Given the description of an element on the screen output the (x, y) to click on. 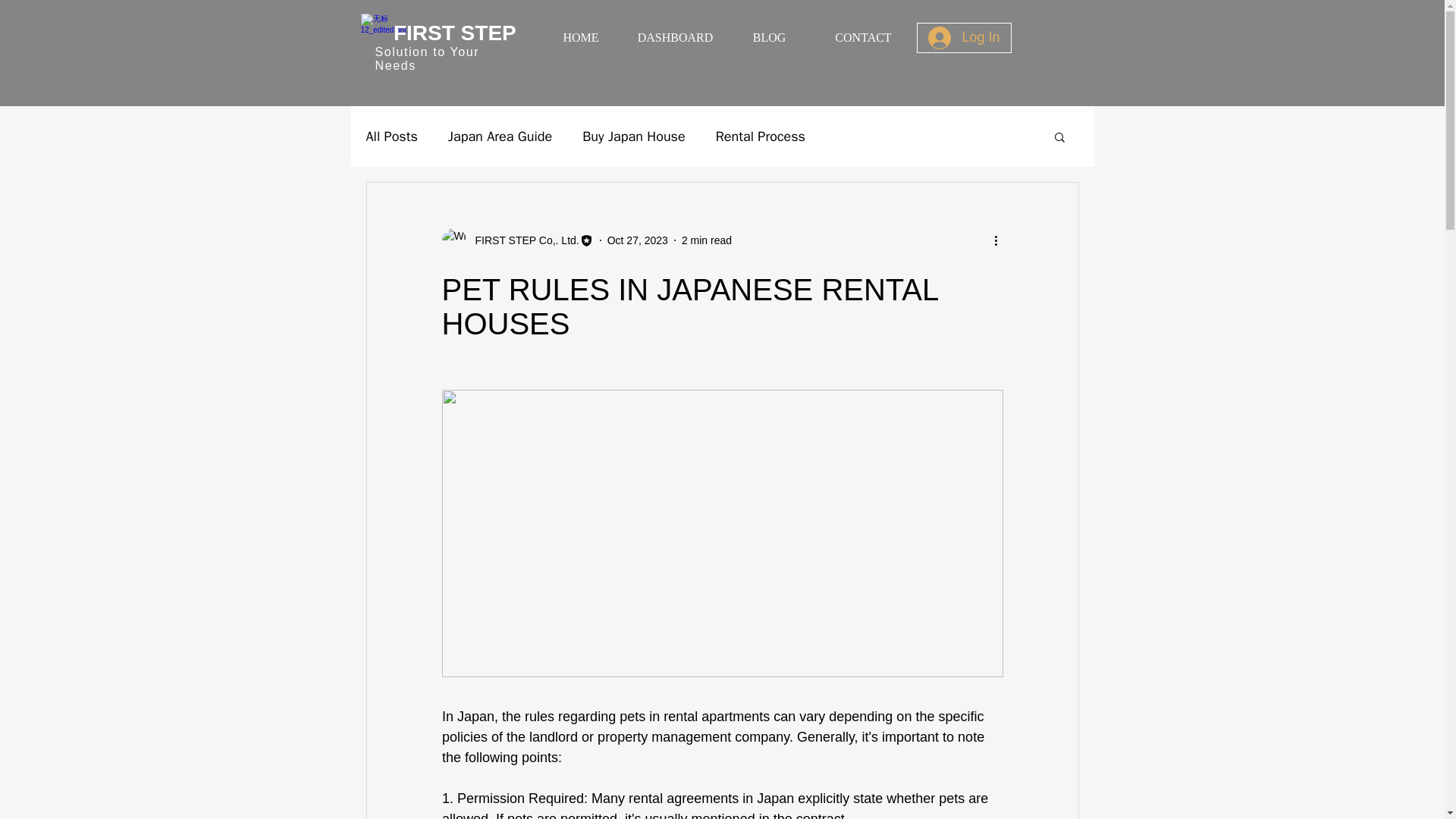
FIRST STEP  (457, 33)
CONTACT (861, 37)
HOME (580, 37)
FIRST STEP Co,. Ltd. (516, 240)
Japan Area Guide (499, 136)
FIRST STEP Co,. Ltd. (521, 239)
Buy Japan House (633, 136)
BLOG (768, 37)
All Posts (390, 136)
Rental Process (760, 136)
2 min read (706, 239)
DASHBOARD (674, 37)
Oct 27, 2023 (637, 239)
Log In (963, 38)
